Given the description of an element on the screen output the (x, y) to click on. 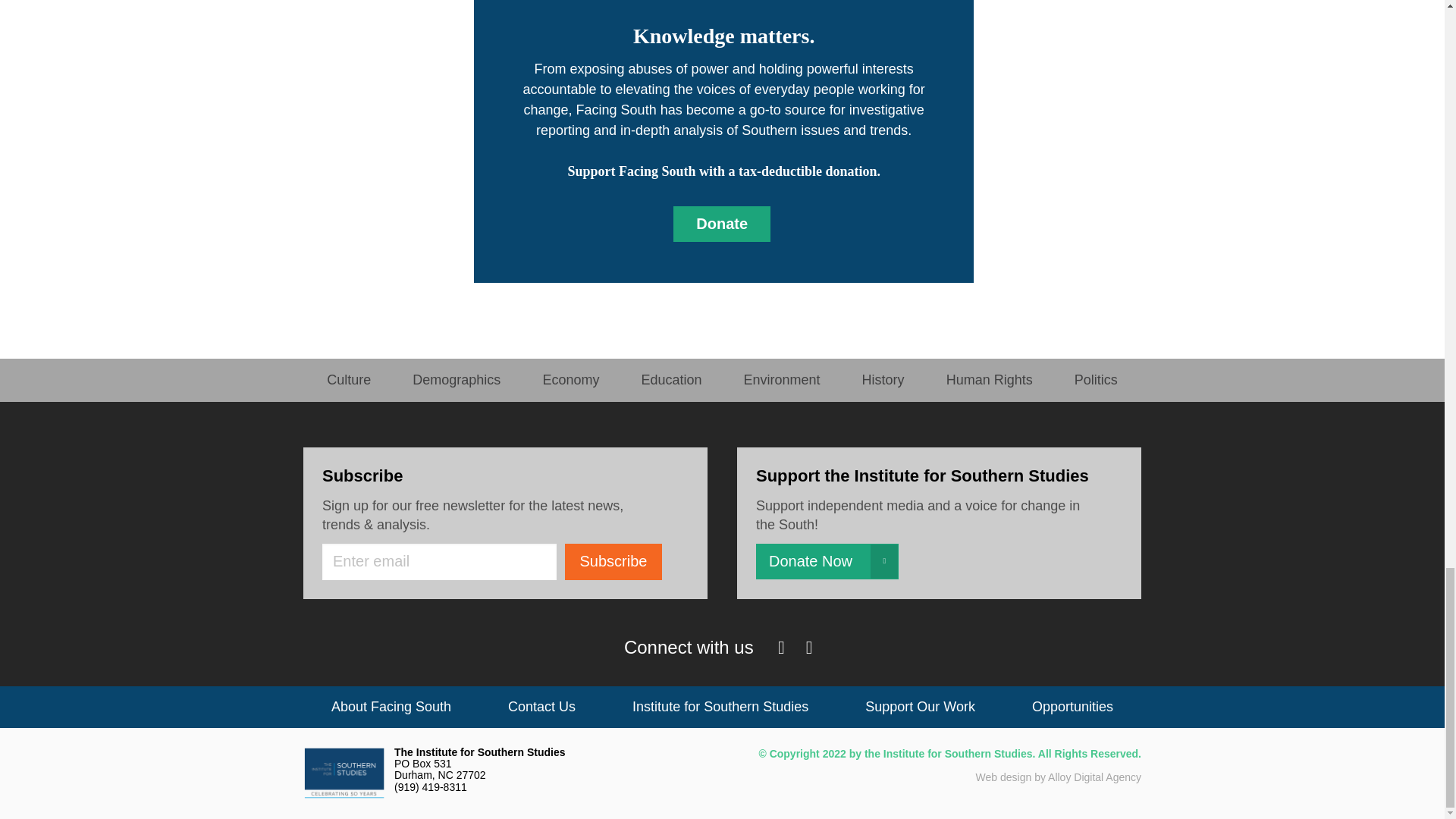
Donate (721, 223)
Subscribe (613, 561)
